Given the description of an element on the screen output the (x, y) to click on. 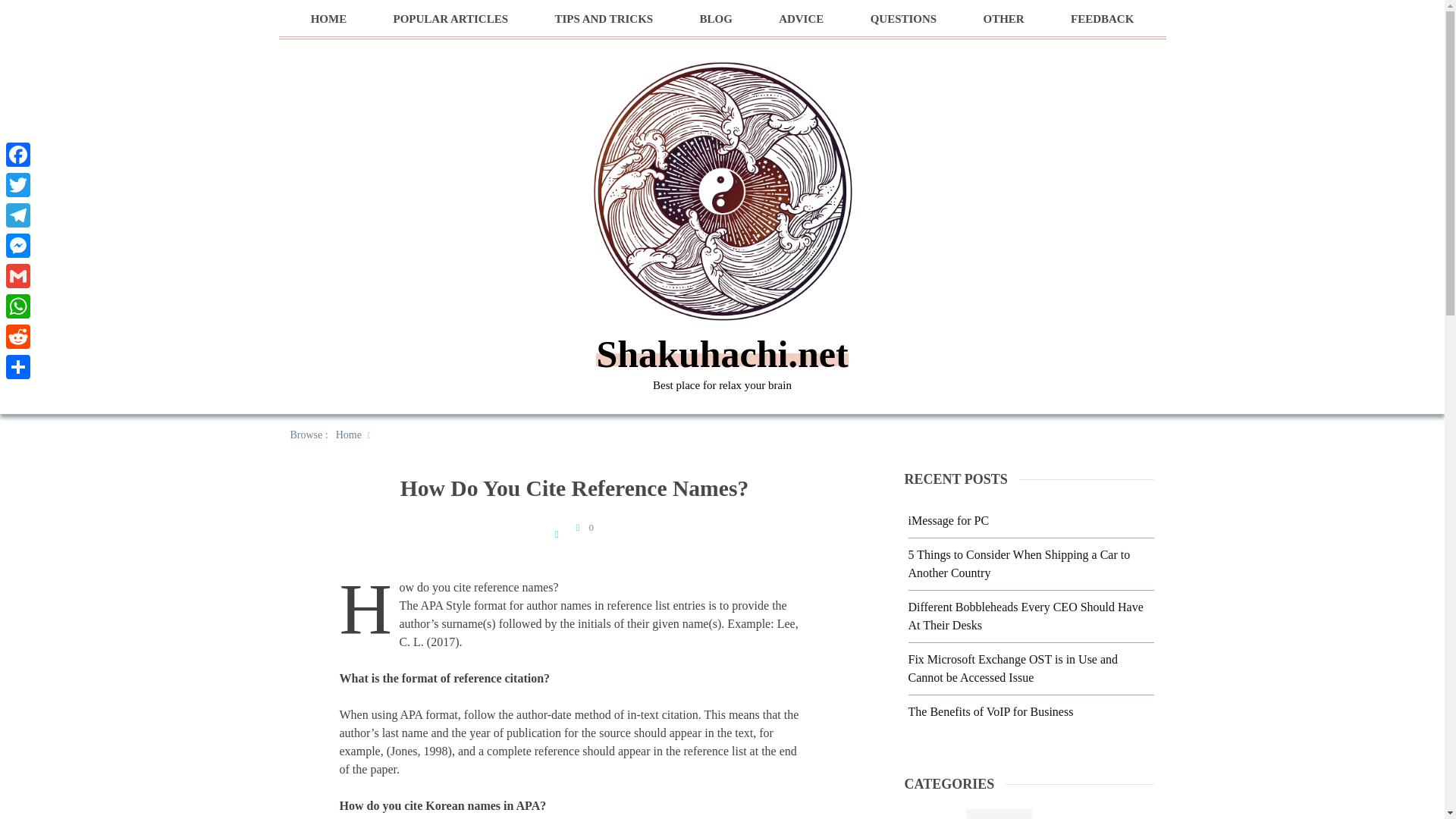
The Benefits of VoIP for Business (991, 711)
FEEDBACK (1101, 19)
QUESTIONS (904, 19)
HOME (328, 19)
Gmail (17, 276)
BLOG (715, 19)
OTHER (1003, 19)
POPULAR ARTICLES (450, 19)
Reddit (17, 336)
Telegram (17, 214)
Twitter (17, 184)
iMessage for PC (949, 520)
Different Bobbleheads Every CEO Should Have At Their Desks (1025, 615)
Blog (999, 814)
